Given the description of an element on the screen output the (x, y) to click on. 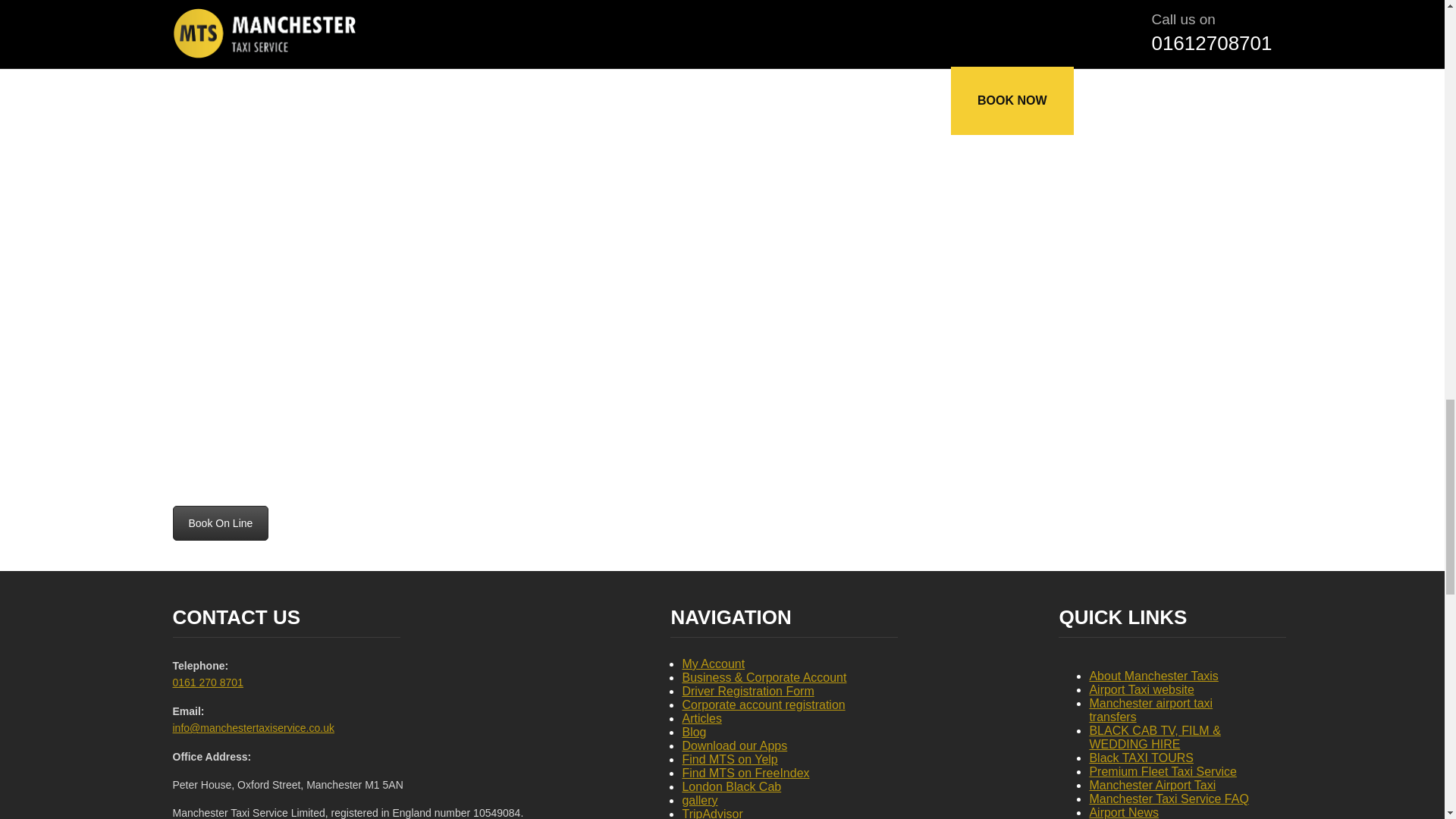
Download our Apps (734, 745)
Book Online (221, 523)
Telephone Manchester Taxi Service (208, 682)
My Account (712, 663)
Blog (693, 731)
London Black Cab (730, 786)
Book On Line (221, 523)
Driver Registration Form (747, 690)
Articles (700, 717)
Corporate account registration (762, 704)
